Given the description of an element on the screen output the (x, y) to click on. 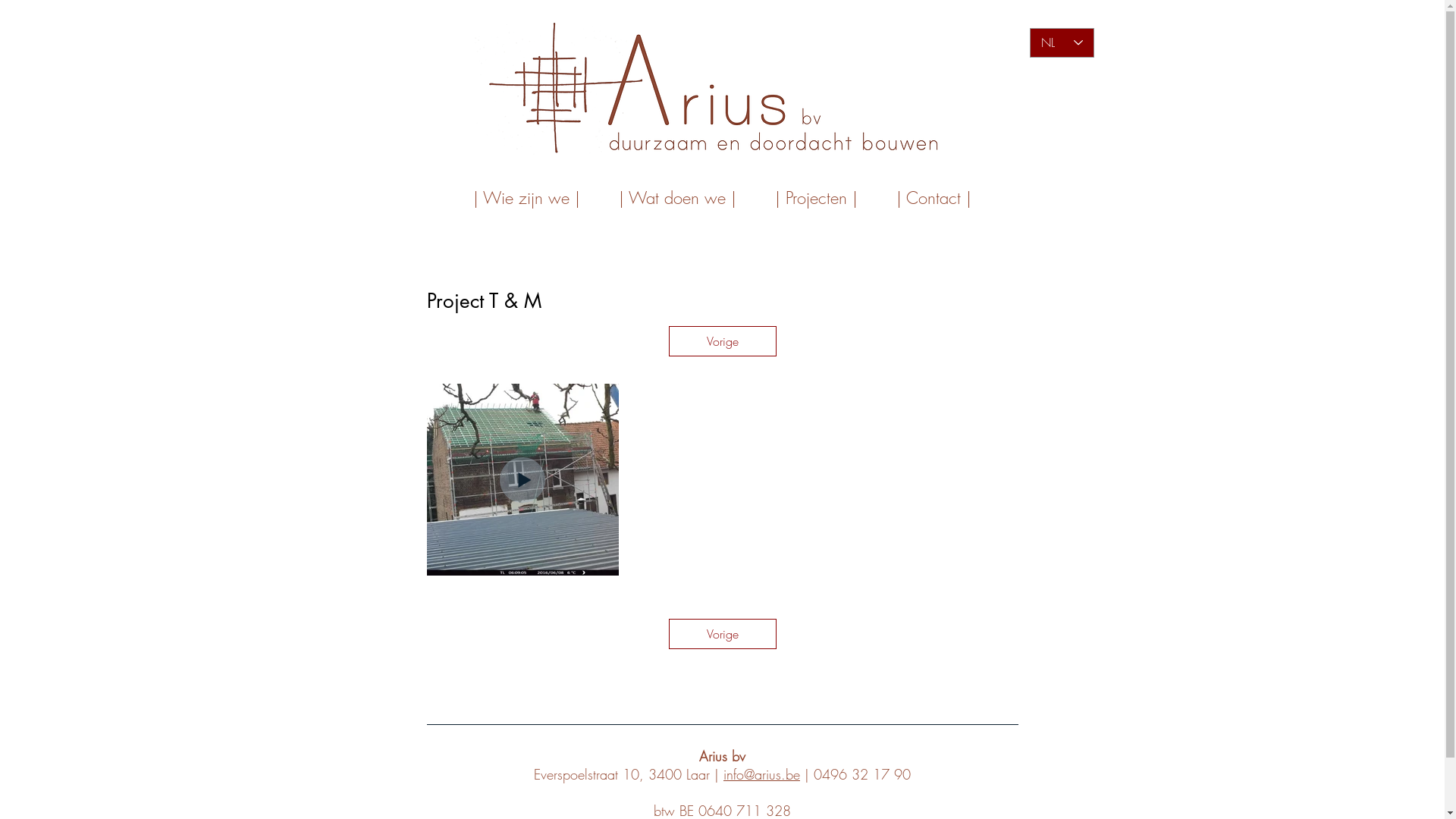
Vorige Element type: text (722, 341)
| Wat doen we | Element type: text (677, 197)
| Wie zijn we | Element type: text (526, 197)
0496 32 17 90 Element type: text (861, 774)
| Projecten | Element type: text (815, 197)
info@arius.be Element type: text (761, 774)
| Contact | Element type: text (933, 197)
Vorige Element type: text (722, 633)
